Given the description of an element on the screen output the (x, y) to click on. 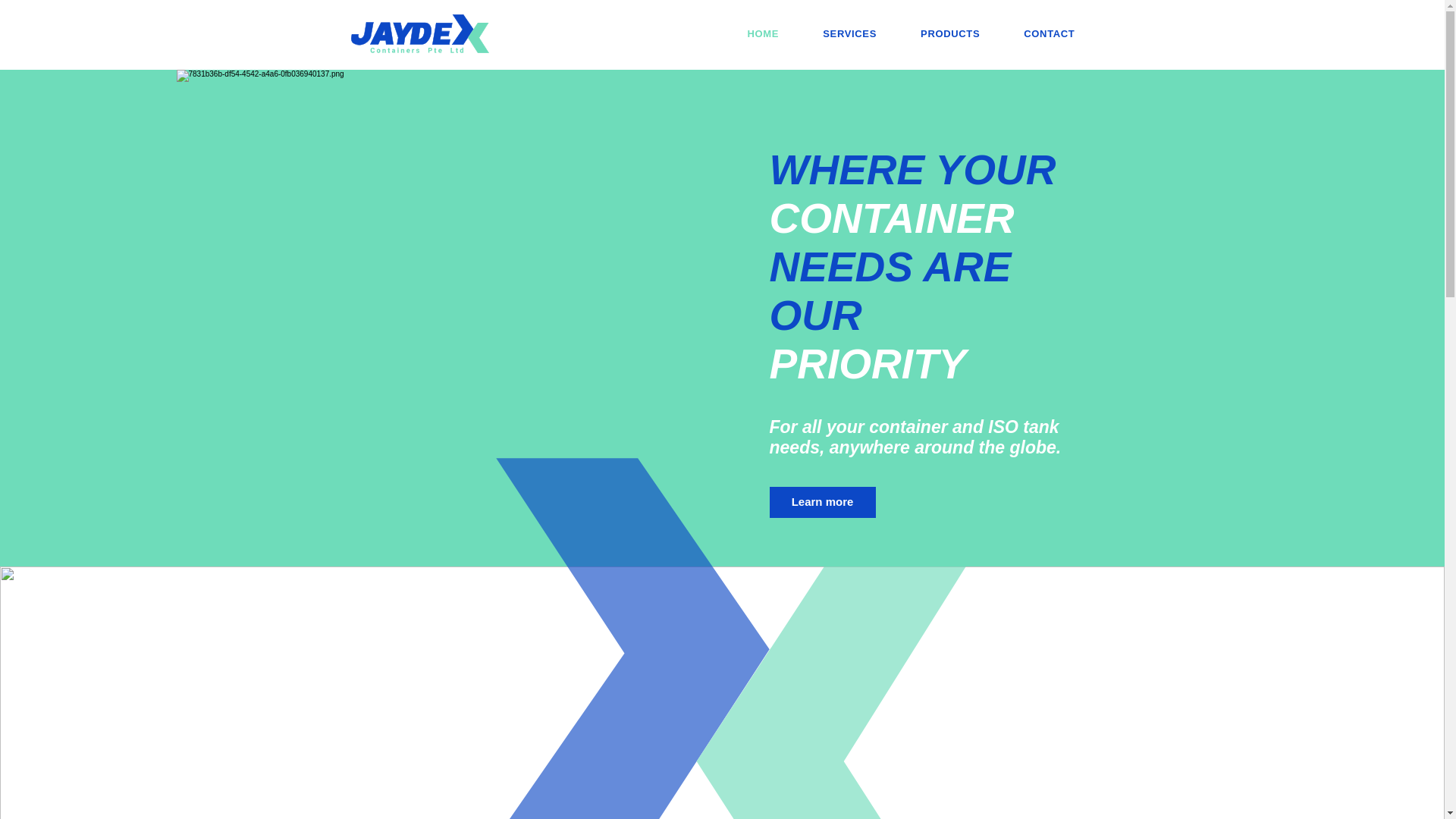
Learn more (821, 501)
CONTACT (1048, 33)
SERVICES (849, 33)
HOME (762, 33)
PRODUCTS (949, 33)
